Given the description of an element on the screen output the (x, y) to click on. 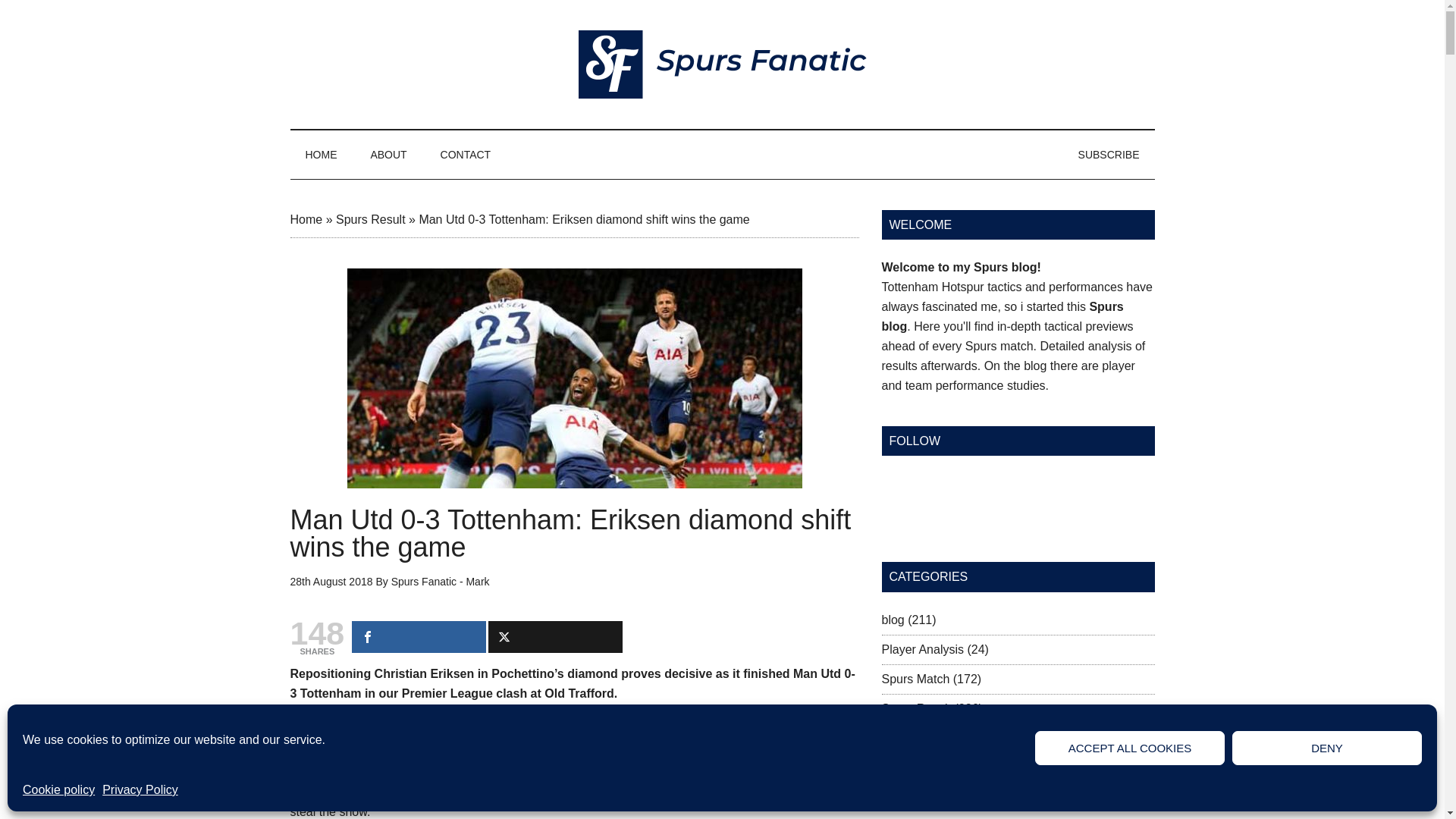
ACCEPT ALL COOKIES (1129, 747)
Spurs Fanatic - Mark (440, 581)
Privacy Policy (139, 790)
Share  (419, 636)
Cookie policy (58, 790)
About (388, 154)
Lucas Moura (804, 791)
Tweet (555, 636)
HOME (320, 154)
Homepage (320, 154)
